Given the description of an element on the screen output the (x, y) to click on. 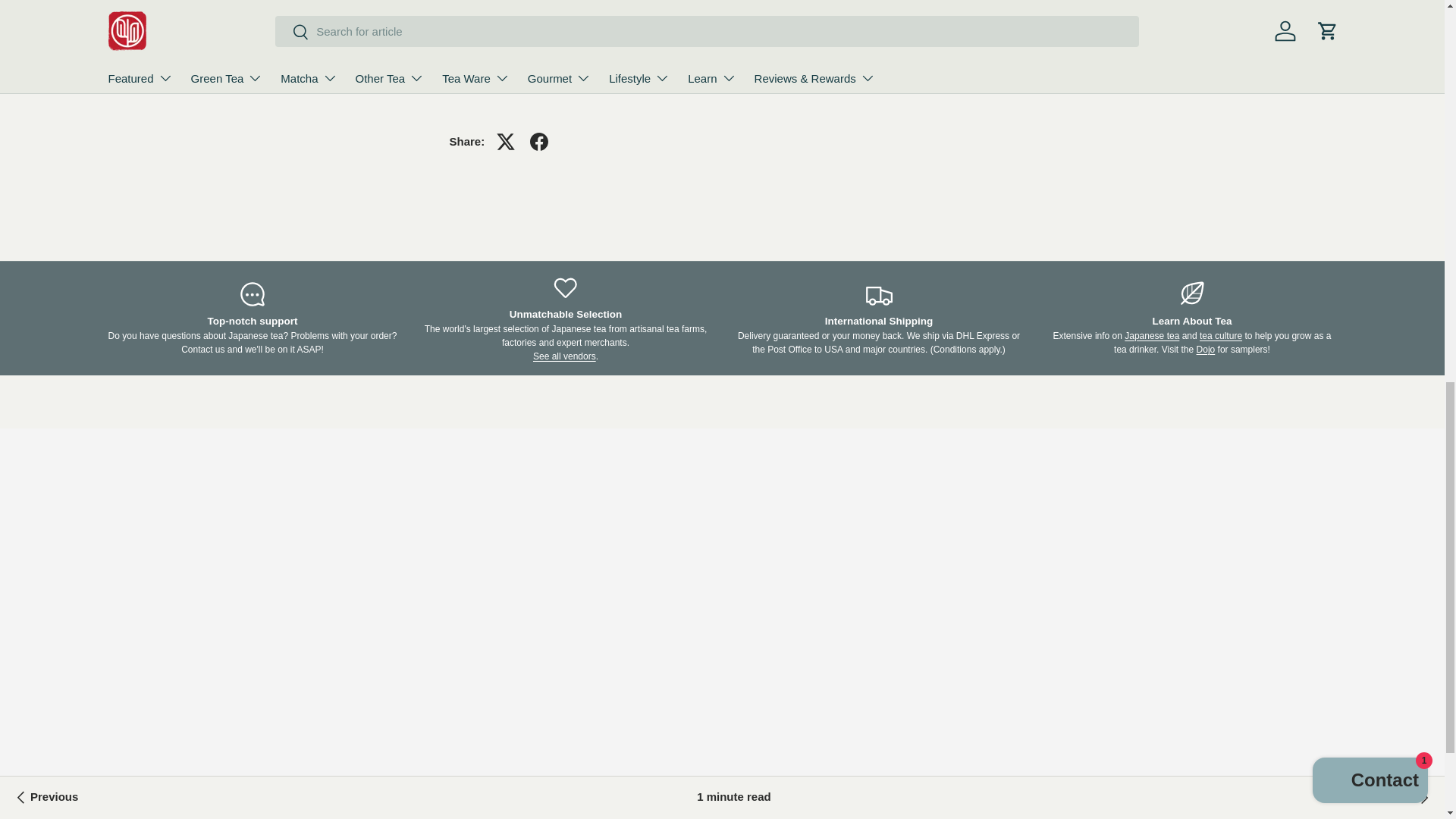
All About Japanese Tea Culture (1220, 335)
Professional's Guide to Japanese Tea (1151, 335)
Vendors (563, 356)
The Yunomi Dojo (1205, 348)
Tweet on X (505, 141)
Share on Facebook (539, 141)
